Given the description of an element on the screen output the (x, y) to click on. 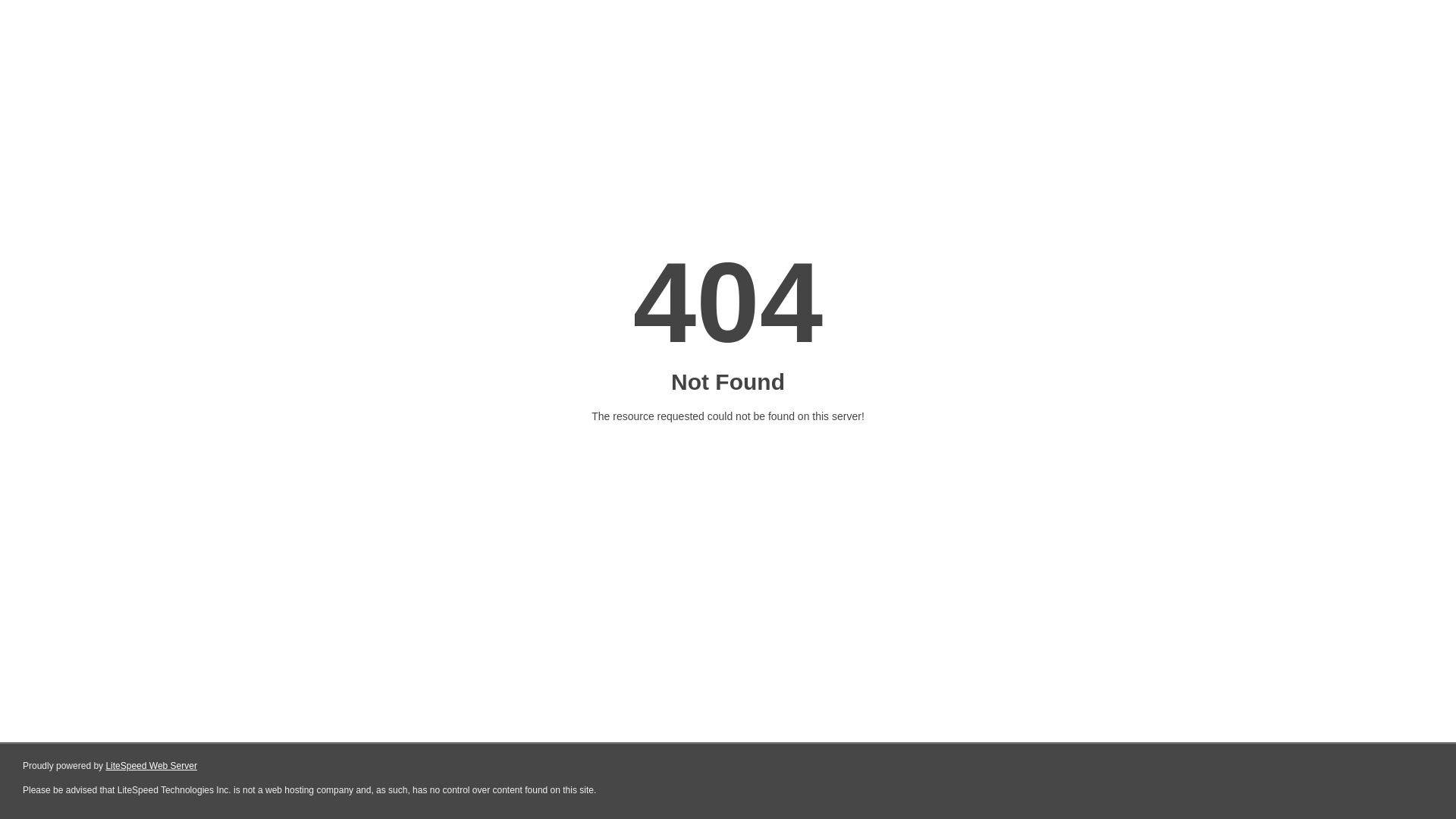
LiteSpeed Web Server Element type: text (151, 765)
